Given the description of an element on the screen output the (x, y) to click on. 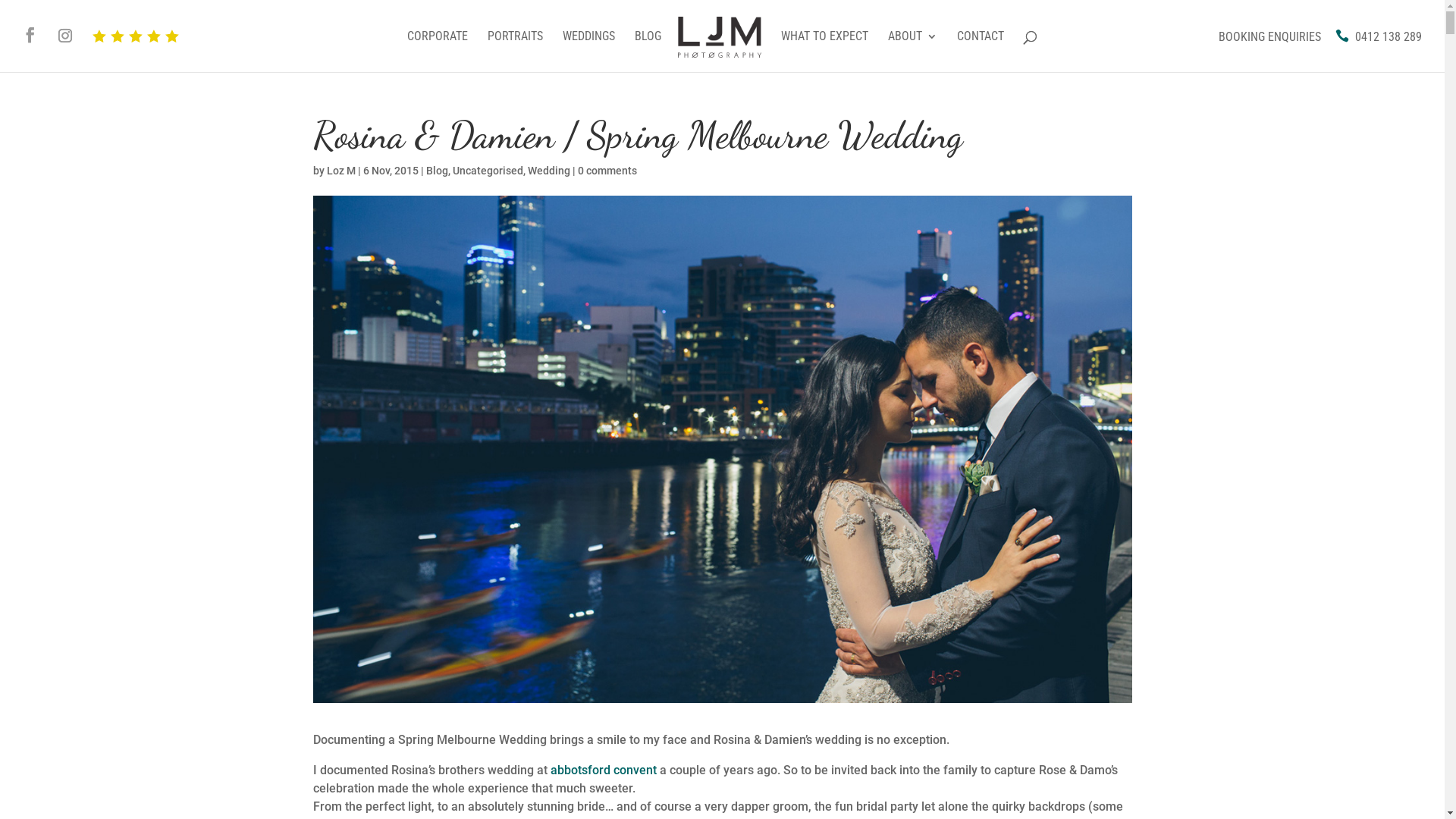
BLOG Element type: text (647, 51)
BOOKING ENQUIRIES Element type: text (1259, 35)
CONTACT Element type: text (980, 51)
Uncategorised Element type: text (486, 170)
0412 138 289 Element type: text (1378, 35)
PORTRAITS Element type: text (514, 51)
abbotsford convent Element type: text (603, 769)
Wedding Element type: text (548, 170)
CORPORATE Element type: text (437, 51)
WHAT TO EXPECT Element type: text (824, 51)
ABOUT Element type: text (912, 51)
0 comments Element type: text (607, 170)
WEDDINGS Element type: text (588, 51)
Blog Element type: text (437, 170)
Loz M Element type: text (340, 170)
